Given the description of an element on the screen output the (x, y) to click on. 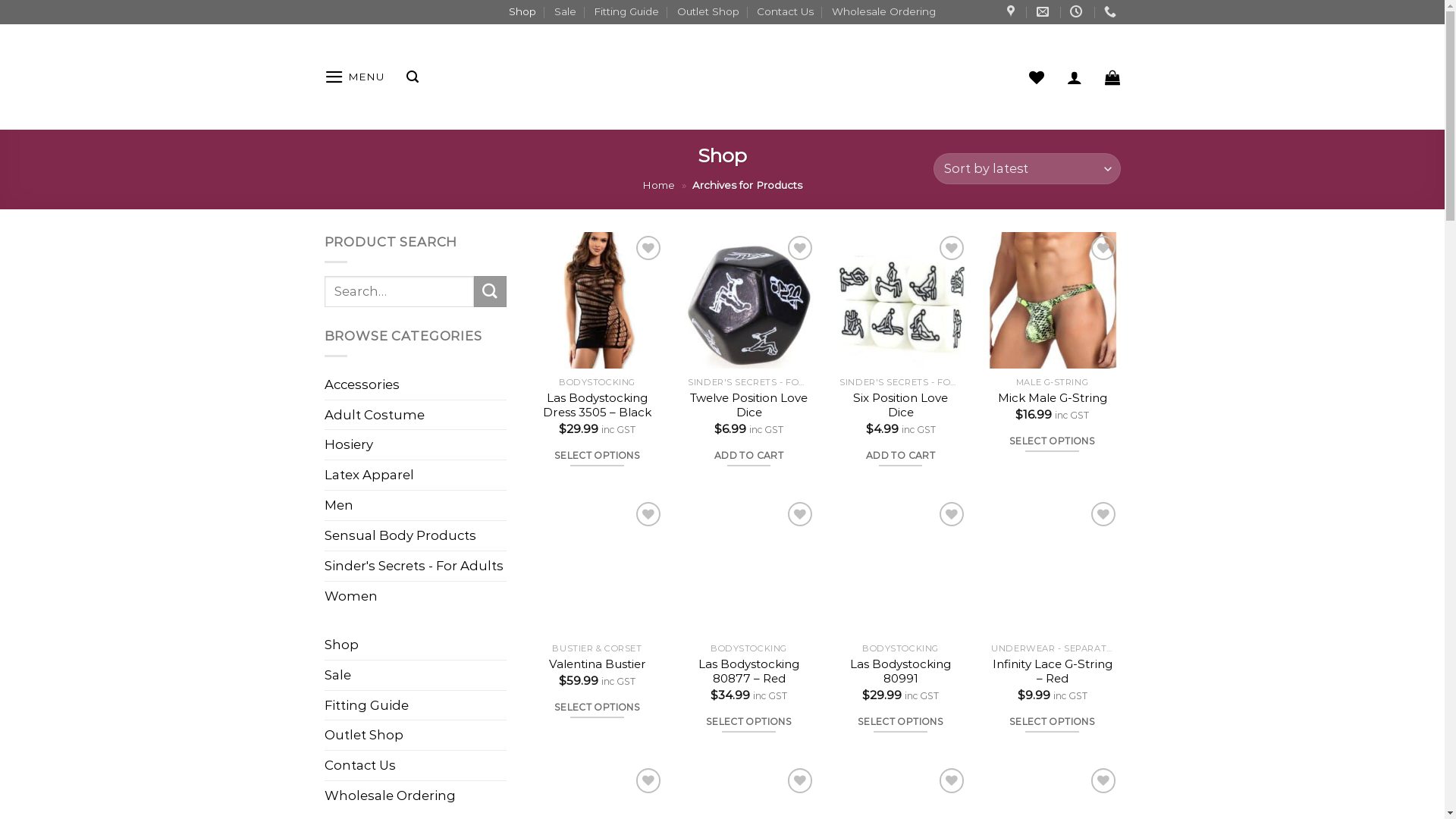
Shop Element type: text (341, 644)
Six Position Love Dice Element type: text (899, 405)
ADD TO CART Element type: text (900, 455)
Fitting Guide Element type: text (625, 12)
Women Element type: text (415, 596)
Shop 3, 41 Rothbury Rd, Embleton, WA, 6062 Element type: hover (1012, 11)
SELECT OPTIONS Element type: text (748, 721)
Shop Element type: text (522, 12)
Sale Element type: text (337, 675)
Hosiery Element type: text (415, 444)
Accessories Element type: text (415, 384)
Wholesale Ordering Element type: text (883, 12)
Las Bodystocking 80991 Element type: text (899, 671)
Open | Mon, Wed, Thurs, Friday | 12pm-5pm   Element type: hover (1077, 11)
Latex Apparel Element type: text (415, 474)
Sale Element type: text (565, 12)
Wholesale Ordering Element type: text (389, 795)
Men Element type: text (415, 505)
SELECT OPTIONS Element type: text (597, 706)
Contact Us Element type: text (784, 12)
Adult Costume Element type: text (415, 414)
Home Element type: text (658, 184)
Fitting Guide Element type: text (366, 705)
Outlet Shop Element type: text (708, 12)
Outlet Shop Element type: text (363, 734)
SELECT OPTIONS Element type: text (900, 721)
ADD TO CART Element type: text (748, 455)
Cart Element type: hover (1112, 77)
(08) 6246 5343 Element type: hover (1112, 11)
Valentina Bustier Element type: text (597, 663)
Twelve Position Love Dice Element type: text (748, 405)
Sensual Body Products Element type: text (415, 535)
Mick Male G-String Element type: text (1052, 397)
SELECT OPTIONS Element type: text (1052, 721)
Contact Us Element type: text (359, 765)
Search Element type: text (489, 291)
hello@lingerieatsinderellas.com.au Element type: hover (1044, 11)
Sinder's Secrets - For Adults Element type: text (415, 565)
SELECT OPTIONS Element type: text (1052, 440)
SELECT OPTIONS Element type: text (597, 455)
MENU Element type: text (354, 76)
